Given the description of an element on the screen output the (x, y) to click on. 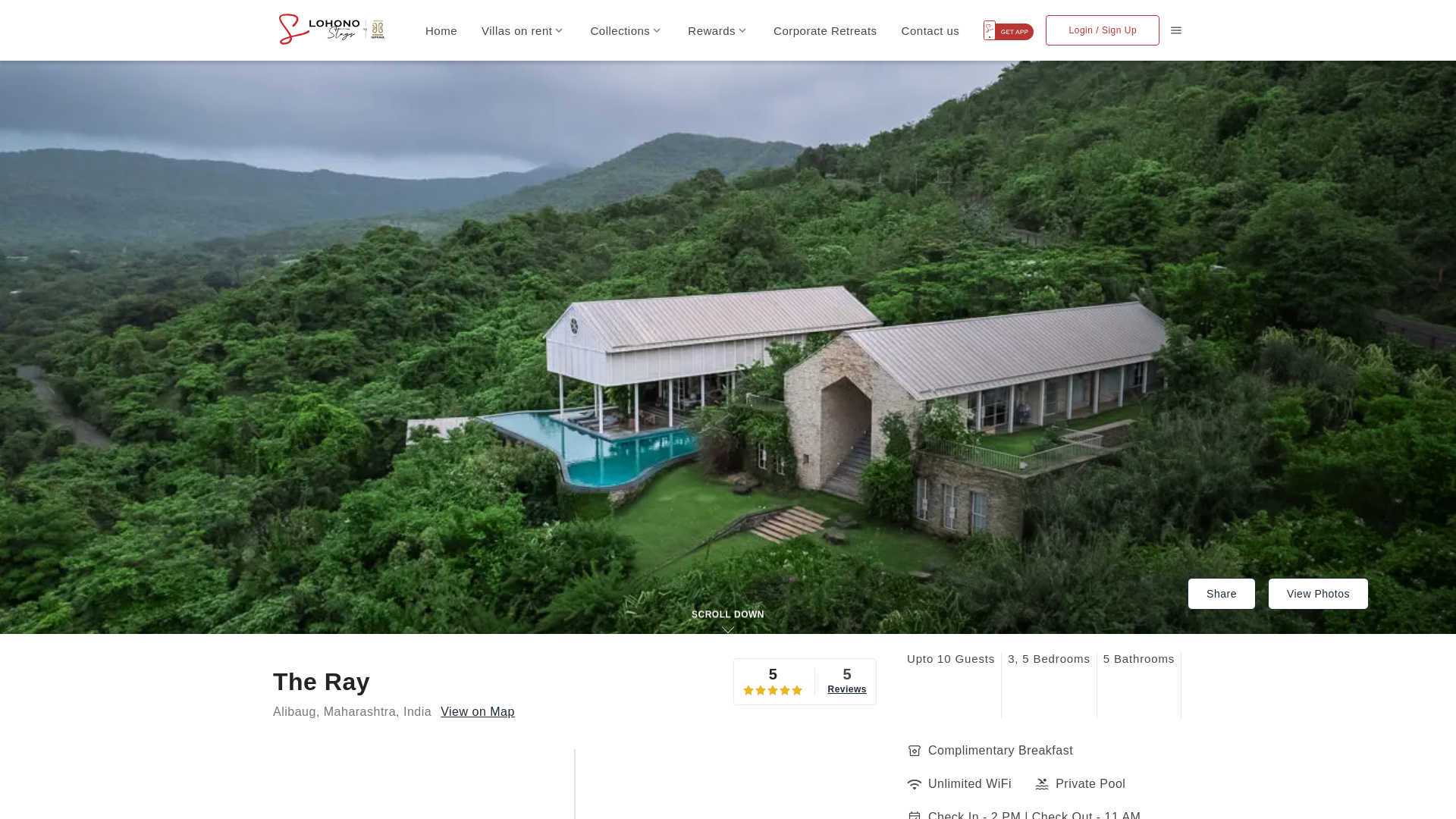
SCROLL DOWN (727, 614)
Home (441, 30)
Home (441, 30)
Collections (626, 29)
Contact us (930, 30)
Contact us (930, 30)
Villas on rent (523, 29)
Rewards (718, 29)
Lohono Stays (333, 29)
Corporate Retreats (825, 30)
